Given the description of an element on the screen output the (x, y) to click on. 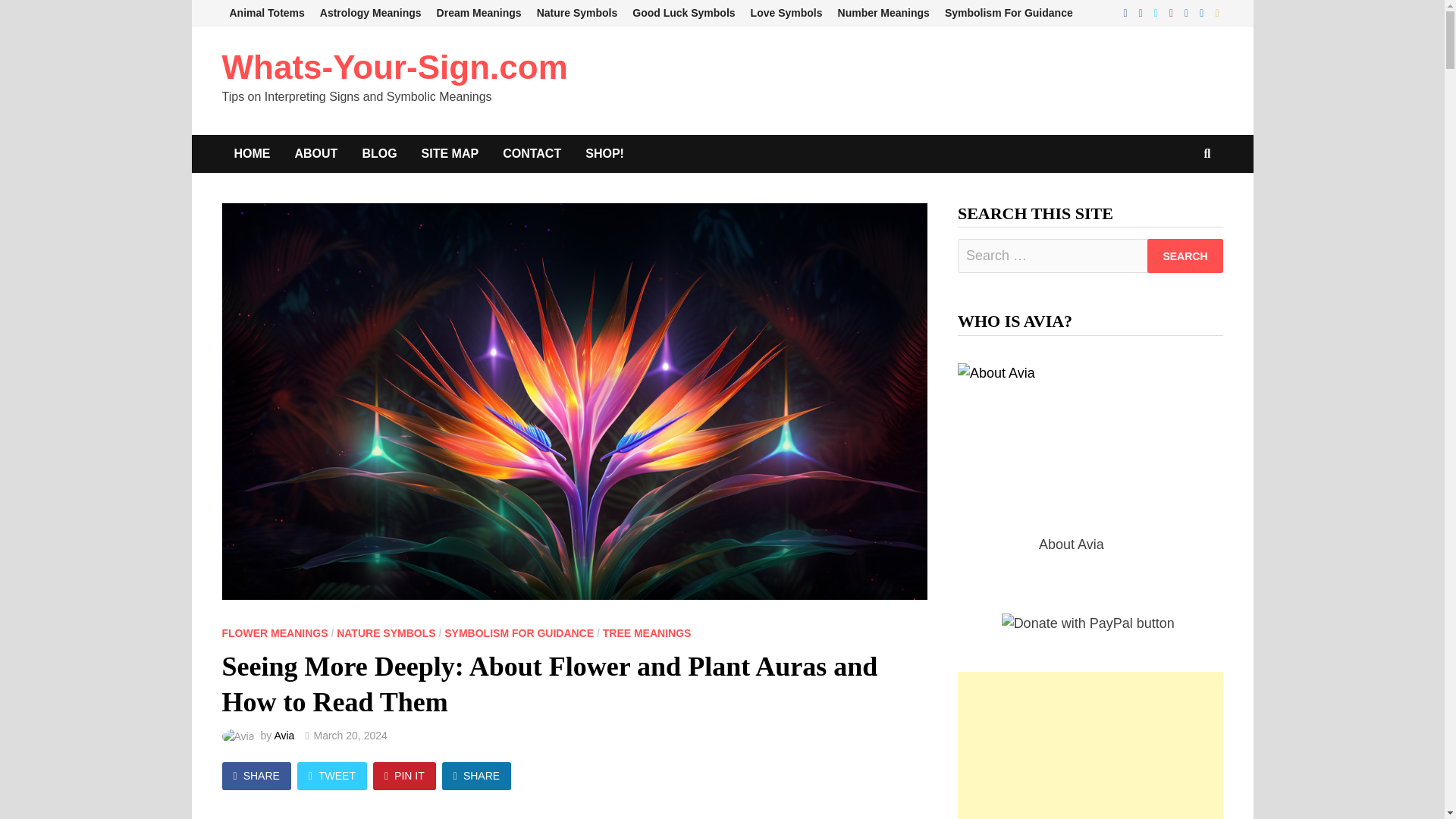
Facebook (1127, 11)
Good Luck Symbols (683, 13)
Search (1185, 255)
SITE MAP (450, 153)
Symbolism For Guidance (1008, 13)
CONTACT (531, 153)
LinkedIn (1203, 11)
Pinterest (1173, 11)
ABOUT (315, 153)
Nature Symbols (577, 13)
